Given the description of an element on the screen output the (x, y) to click on. 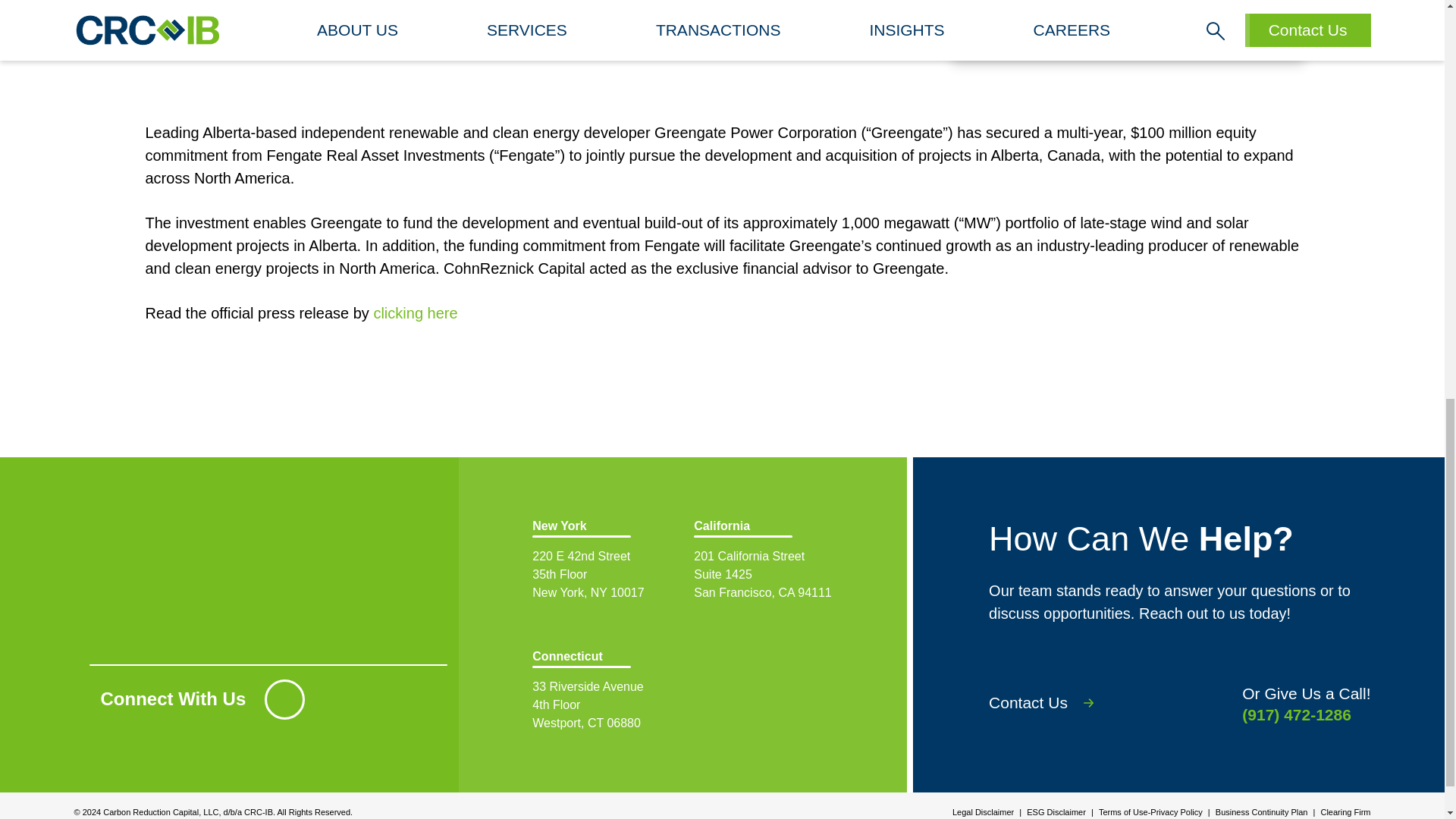
Connecticut (601, 691)
clicking here (414, 312)
Contact Us (1052, 702)
LinkedIn (284, 699)
California (1124, 30)
Legal Disclaimer (763, 560)
New York (982, 808)
